Given the description of an element on the screen output the (x, y) to click on. 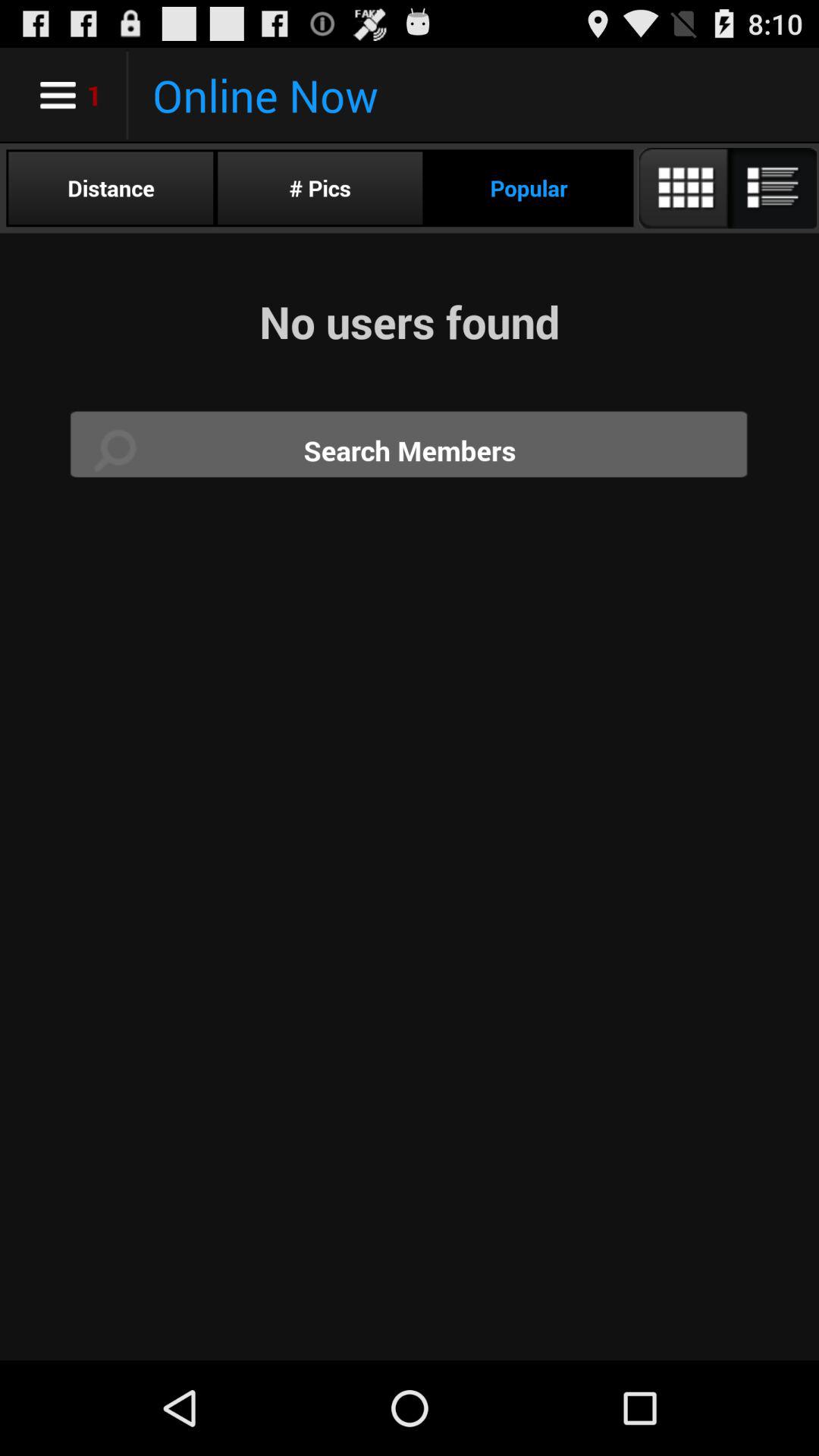
turn on icon below online now icon (110, 187)
